Given the description of an element on the screen output the (x, y) to click on. 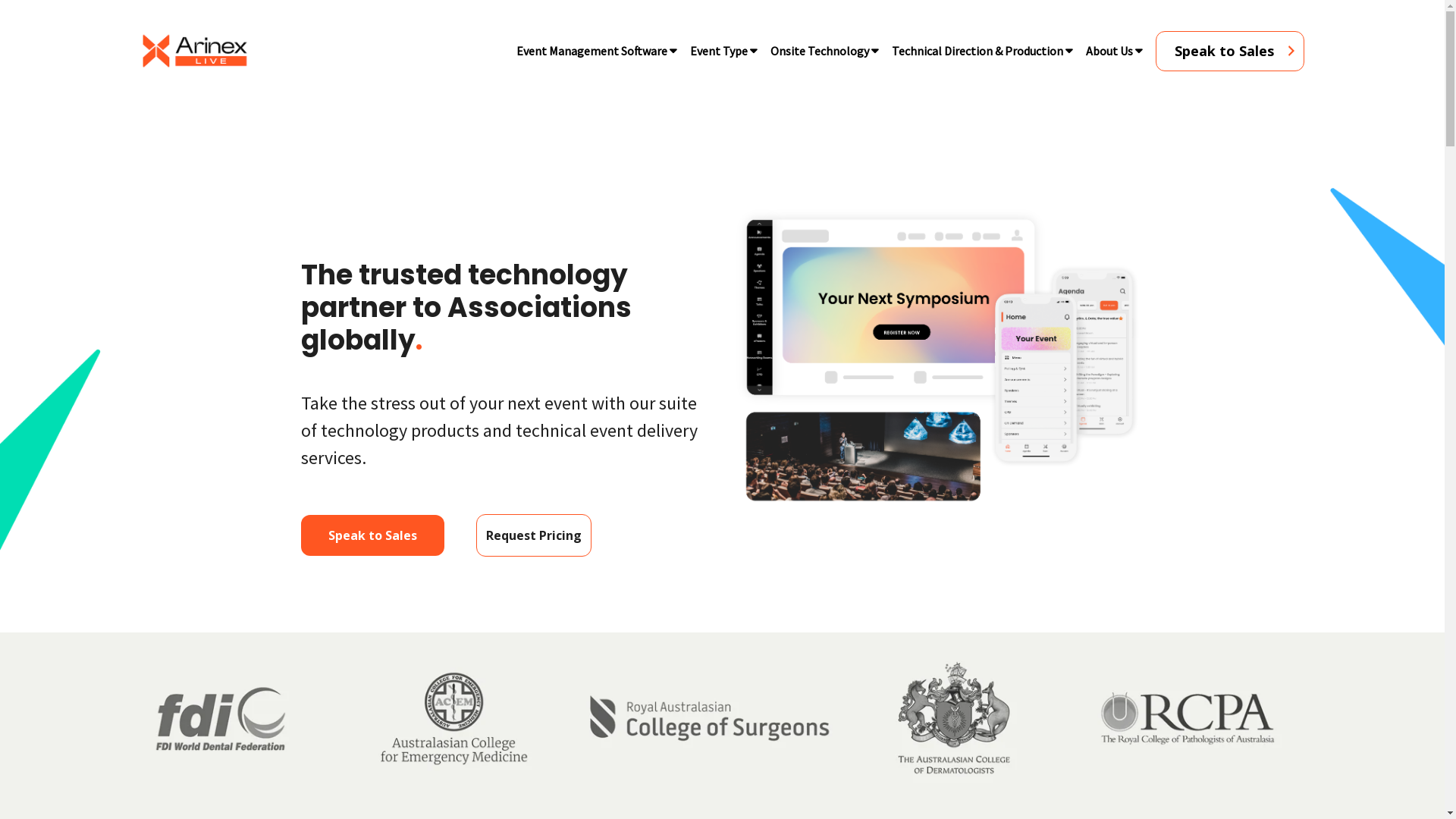
Onsite Technology Element type: text (818, 50)
About Us Element type: text (1108, 50)
Event Management Software Element type: text (591, 50)
Event Type Element type: text (717, 50)
JOYN event technology  Element type: hover (938, 357)
Request Pricing Element type: text (533, 535)
Speak to Sales Element type: text (372, 534)
Technical Direction & Production Element type: text (976, 50)
Speak to Sales Element type: text (1229, 50)
